Given the description of an element on the screen output the (x, y) to click on. 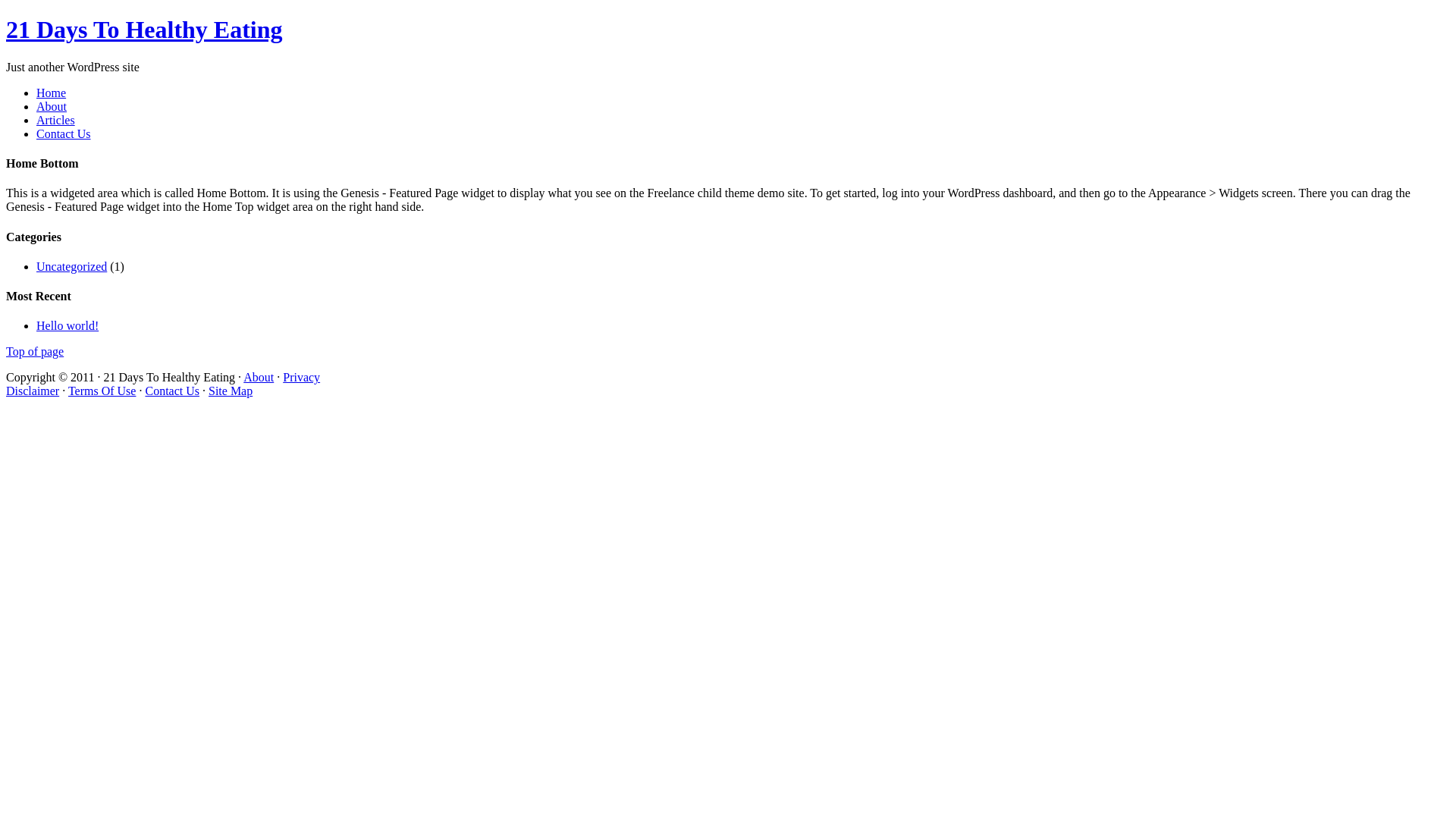
Contact Us Element type: text (171, 390)
Terms Of Use Element type: text (102, 390)
About Element type: text (258, 376)
Uncategorized Element type: text (71, 266)
21 Days To Healthy Eating Element type: text (144, 29)
Privacy Element type: text (301, 376)
Top of page Element type: text (34, 351)
Disclaimer Element type: text (32, 390)
Hello world! Element type: text (67, 325)
Articles Element type: text (55, 119)
Contact Us Element type: text (63, 133)
About Element type: text (51, 106)
Home Element type: text (50, 92)
Site Map Element type: text (230, 390)
